Given the description of an element on the screen output the (x, y) to click on. 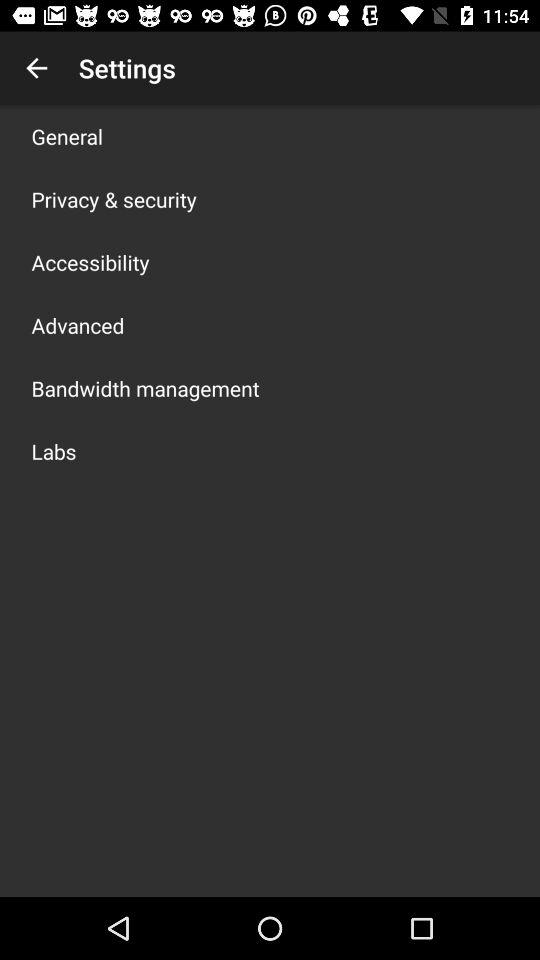
press labs icon (53, 451)
